Given the description of an element on the screen output the (x, y) to click on. 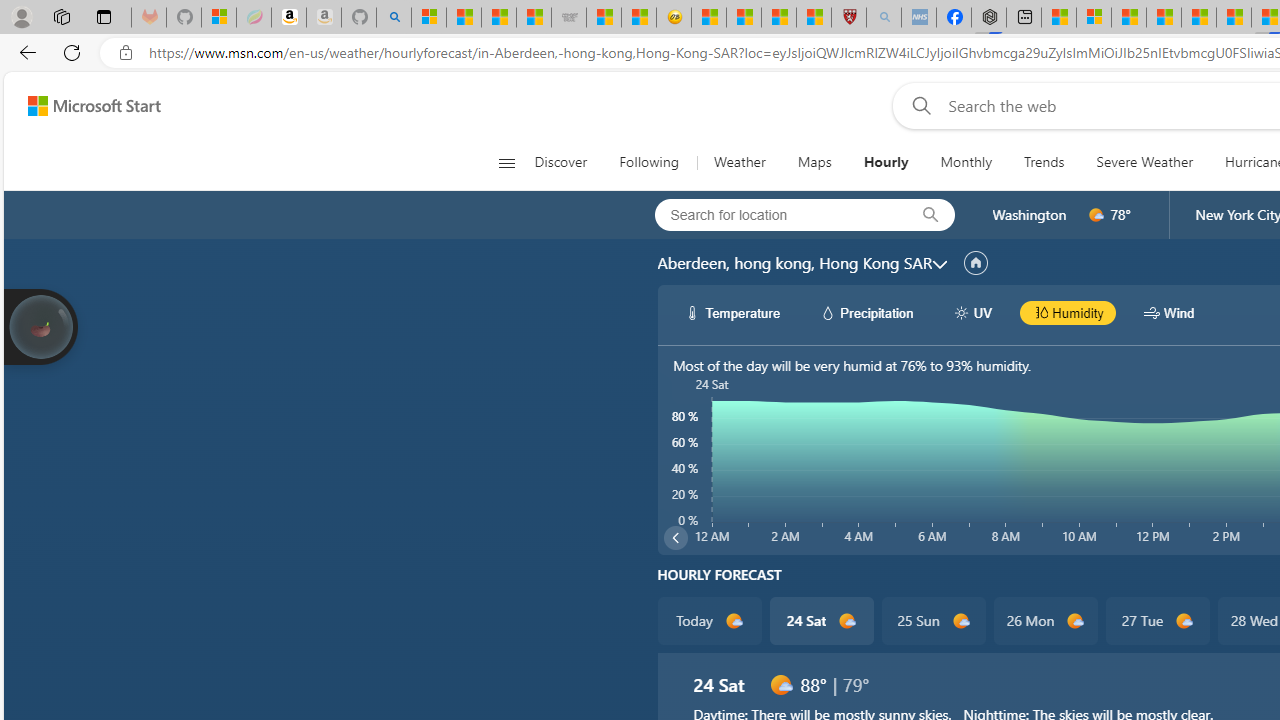
common/carouselChevron (675, 538)
locationName/setHomeLocation (976, 263)
Monthly (966, 162)
hourlyChart/uvWhite UV (972, 312)
hourlyChart/temperatureWhite Temperature (733, 312)
locationName/setHomeLocation (976, 263)
